Given the description of an element on the screen output the (x, y) to click on. 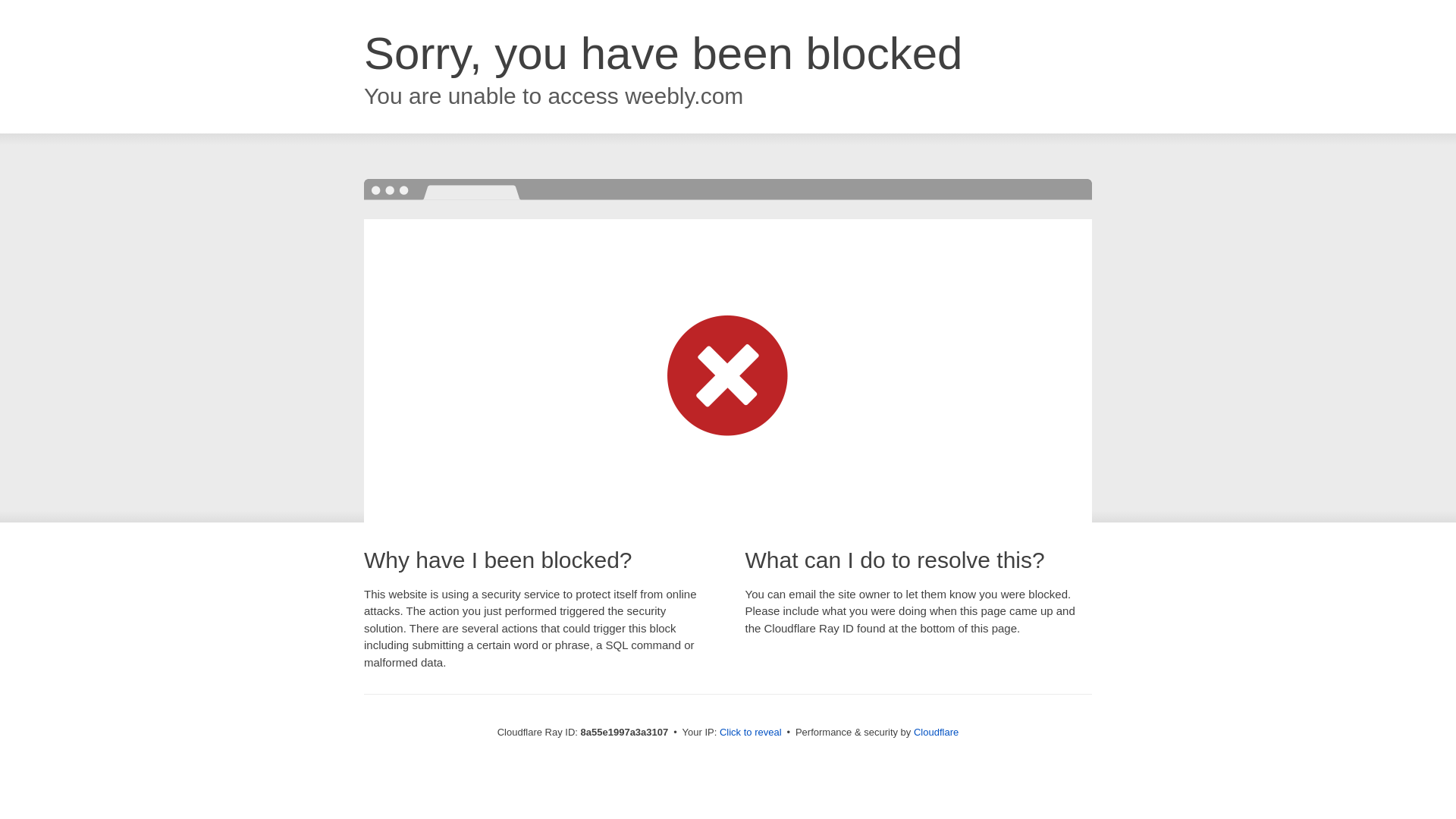
Cloudflare (936, 731)
Click to reveal (750, 732)
